Given the description of an element on the screen output the (x, y) to click on. 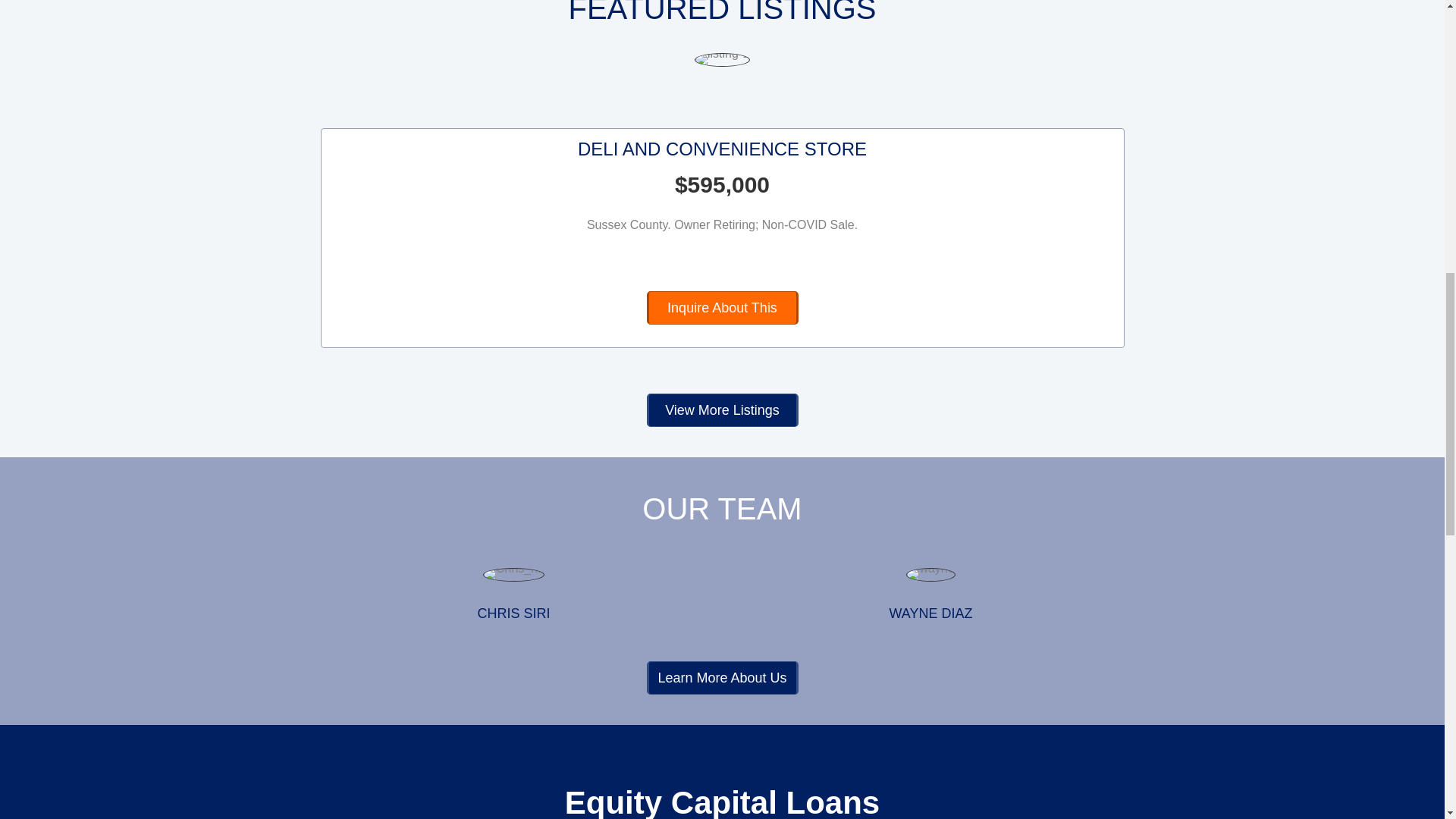
wayne (930, 574)
Learn More About Us (721, 677)
View More Listings (721, 409)
listing-1 (721, 59)
Inquire About This (721, 307)
